Given the description of an element on the screen output the (x, y) to click on. 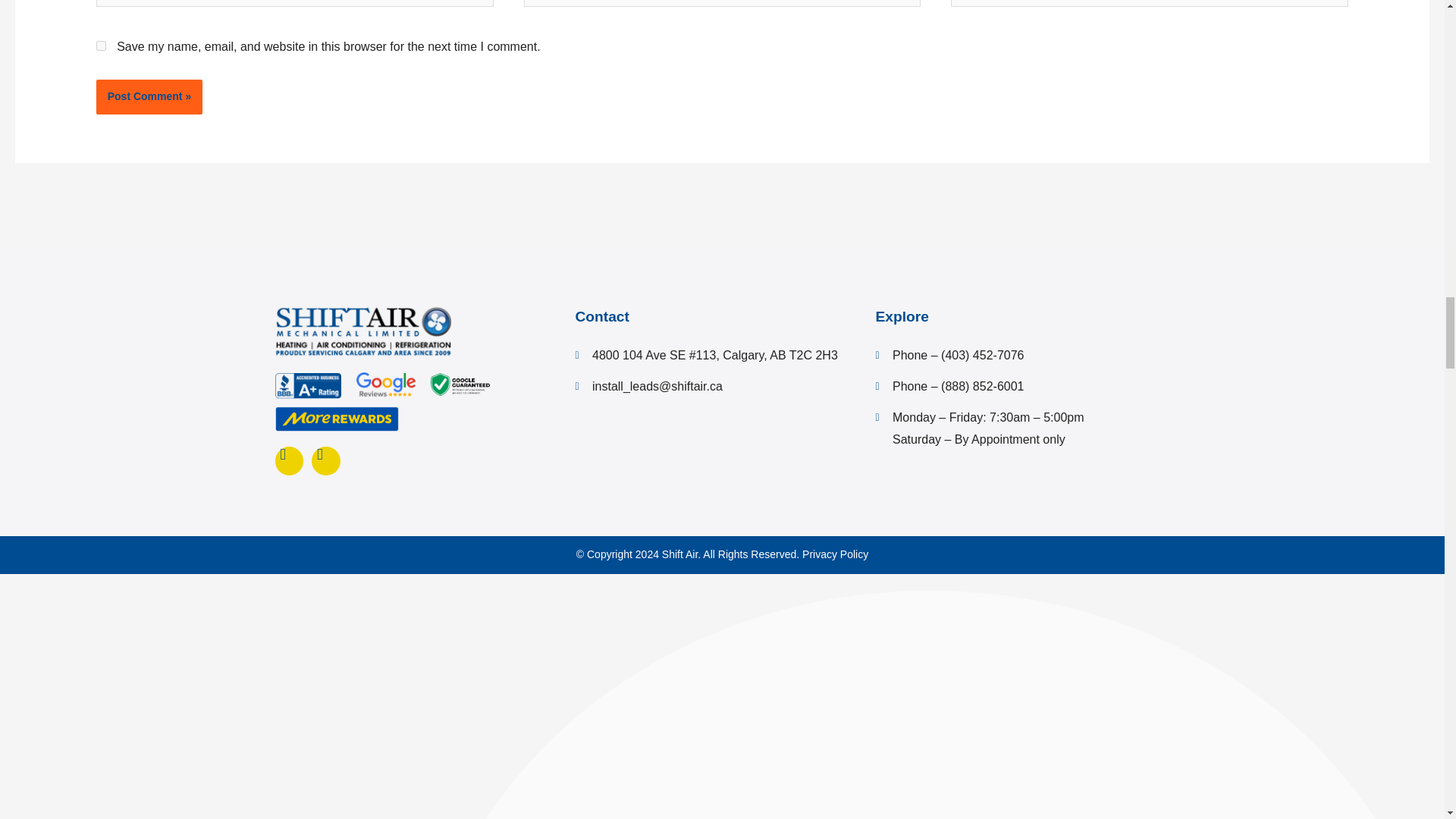
yes (101, 45)
